Given the description of an element on the screen output the (x, y) to click on. 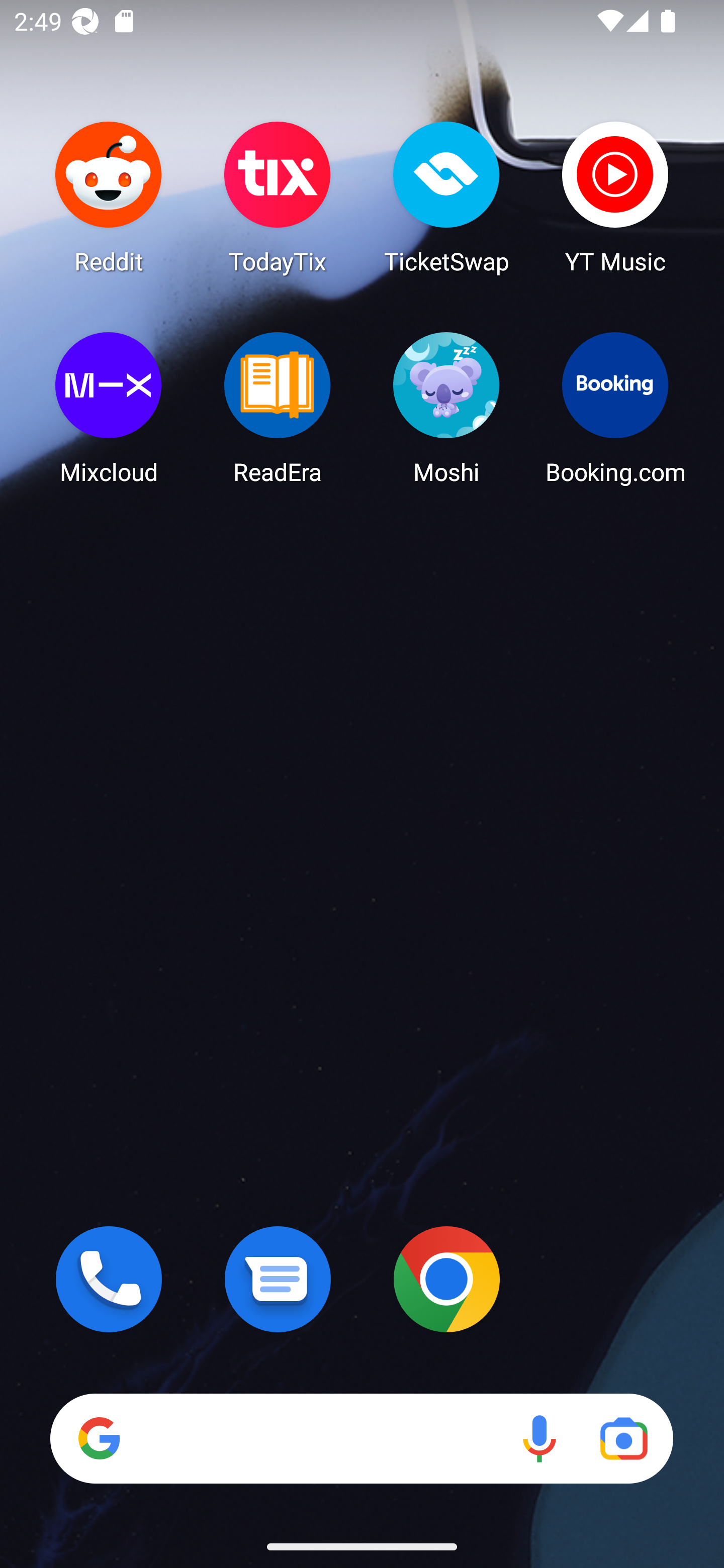
Reddit (108, 196)
TodayTix (277, 196)
TicketSwap (445, 196)
YT Music (615, 196)
Mixcloud (108, 407)
ReadEra (277, 407)
Moshi (445, 407)
Booking.com (615, 407)
Phone (108, 1279)
Messages (277, 1279)
Chrome (446, 1279)
Search Voice search Google Lens (361, 1438)
Voice search (539, 1438)
Google Lens (623, 1438)
